Given the description of an element on the screen output the (x, y) to click on. 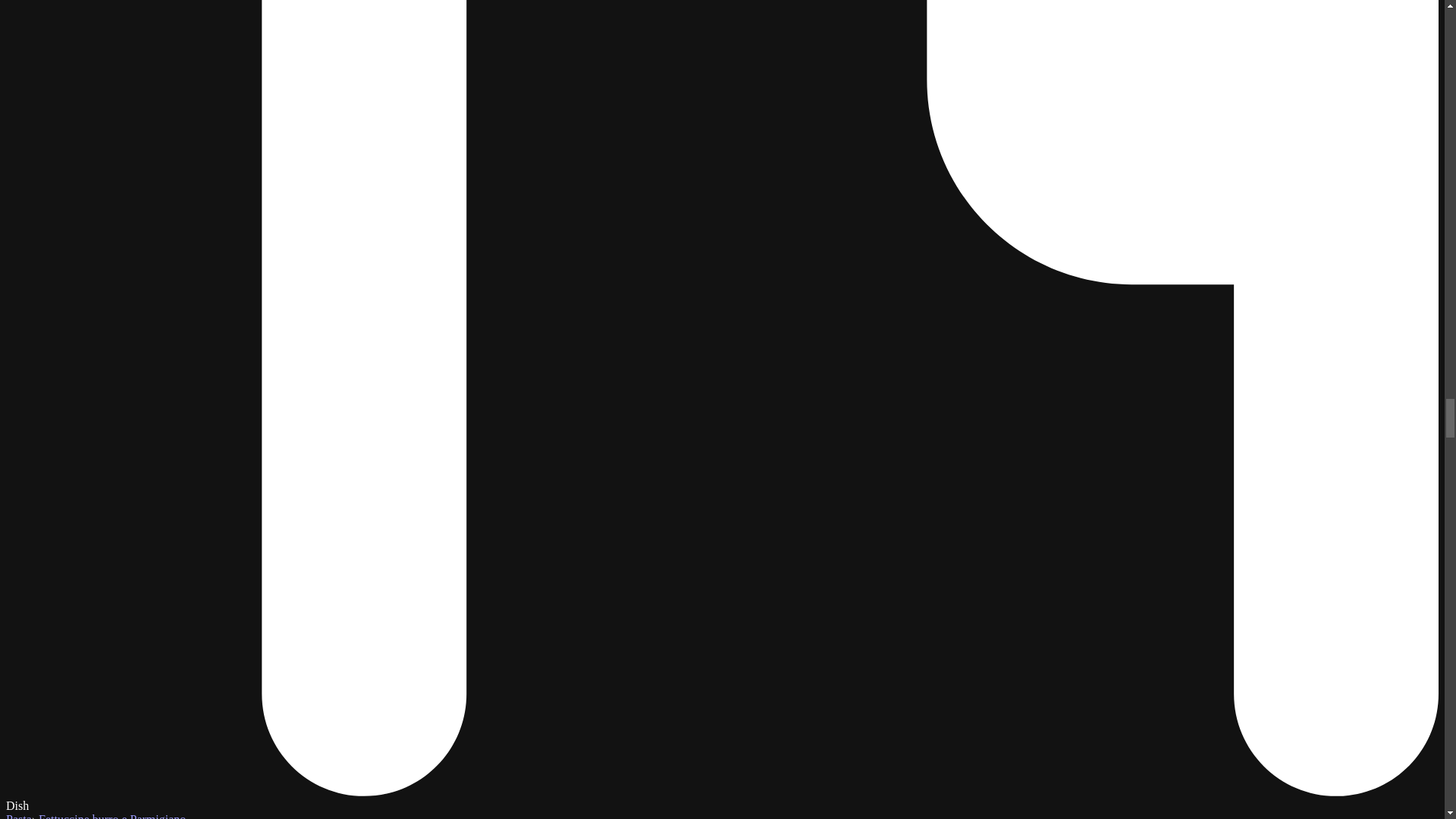
Fettuccine burro e Parmigiano (112, 816)
Pasta (18, 816)
